Given the description of an element on the screen output the (x, y) to click on. 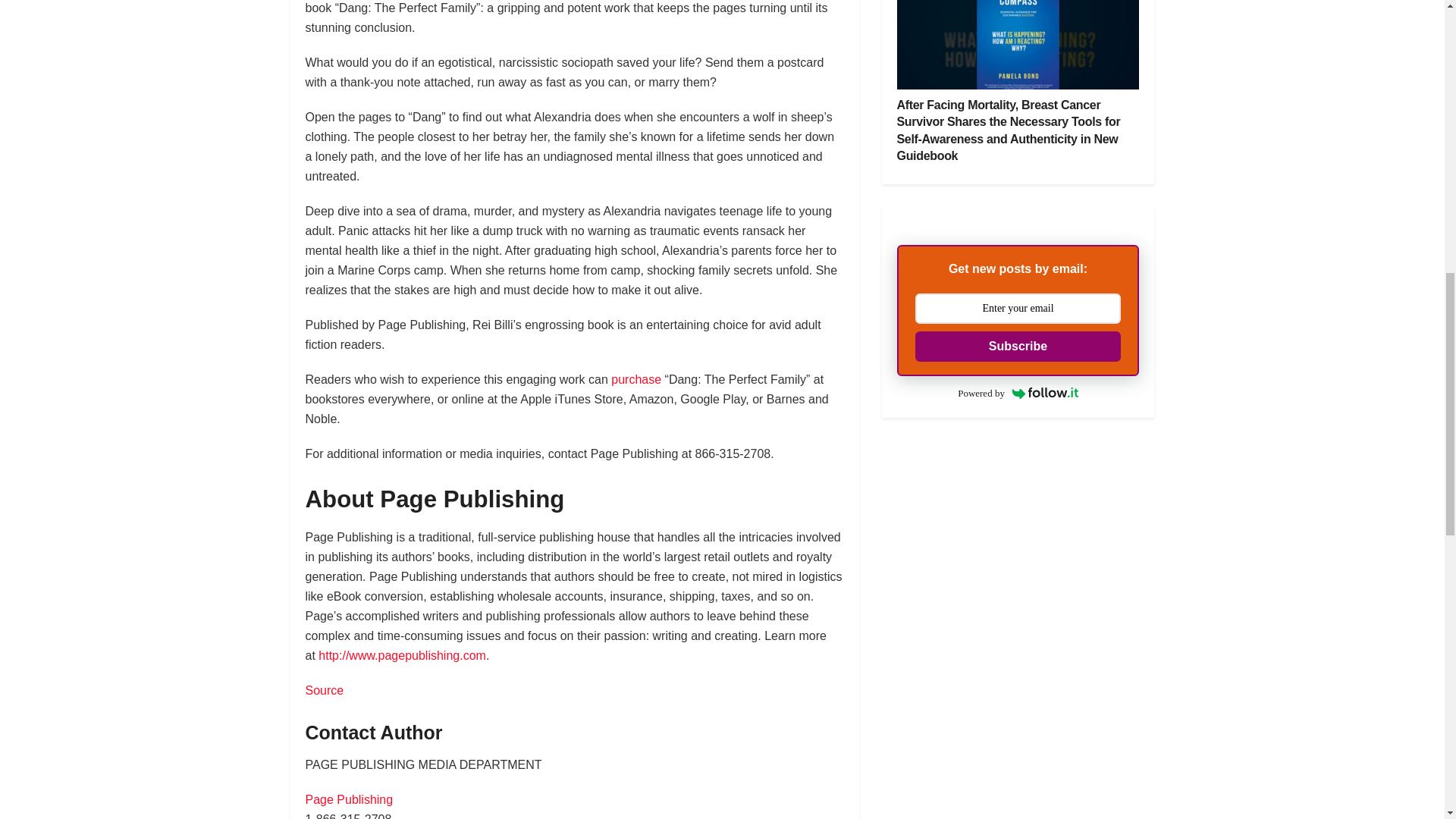
Page Publishing (348, 799)
purchase (636, 379)
Source (323, 689)
